Given the description of an element on the screen output the (x, y) to click on. 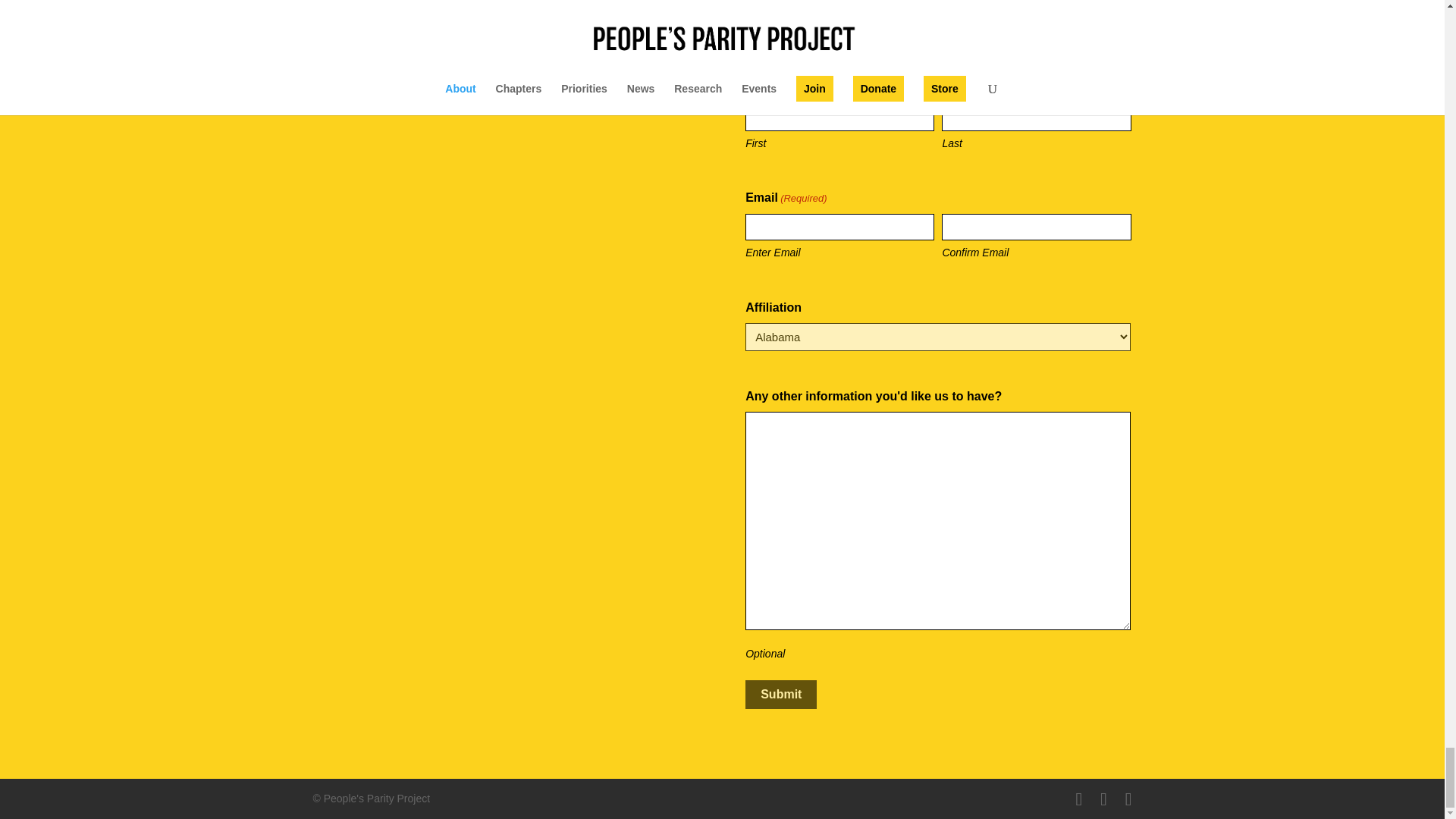
Submit (780, 694)
